Given the description of an element on the screen output the (x, y) to click on. 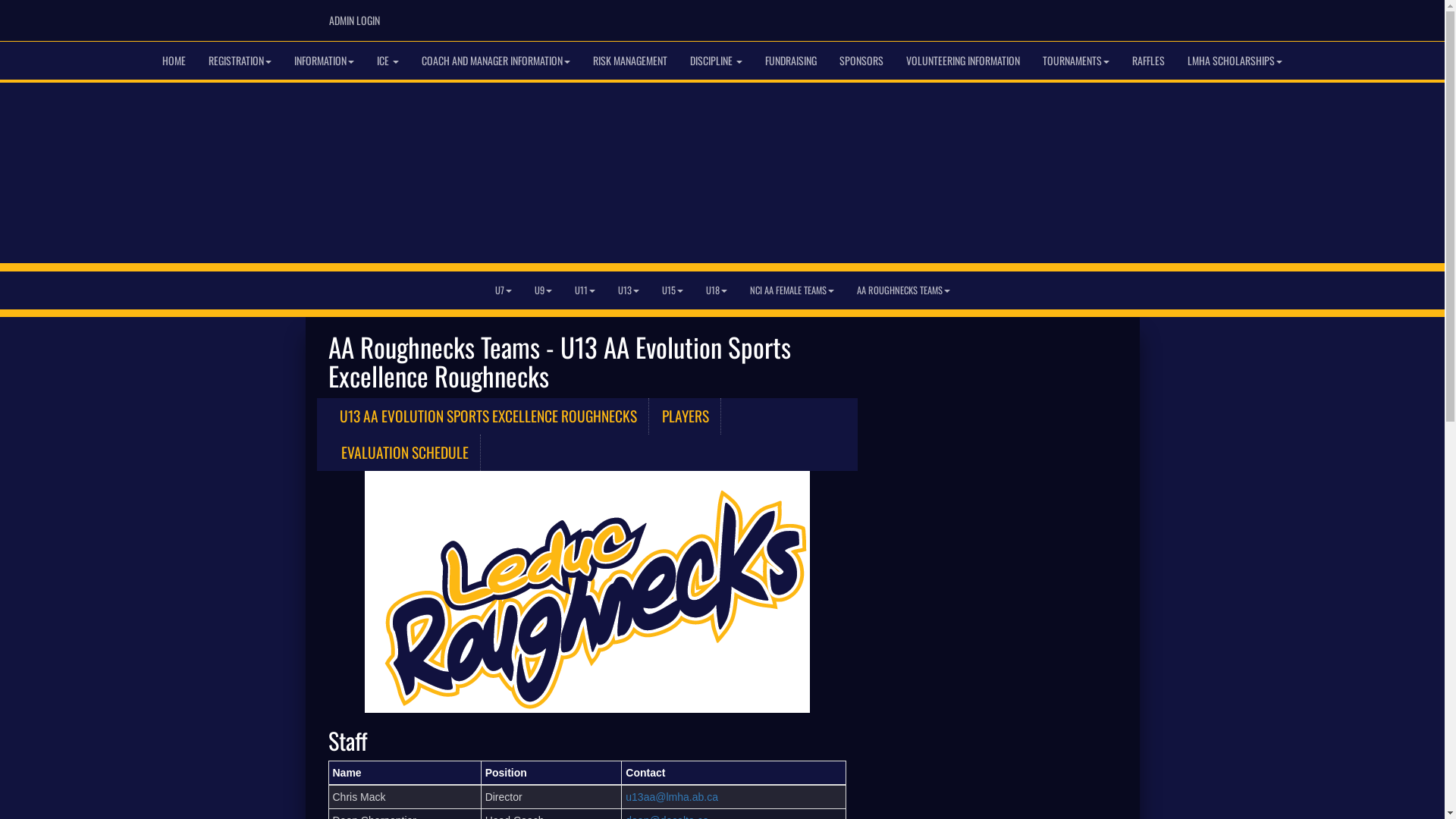
u13aa@lmha.ab.ca Element type: text (671, 796)
U11 Element type: text (583, 290)
Instagram Element type: text (1106, 15)
RISK MANAGEMENT Element type: text (629, 60)
VOLUNTEERING INFORMATION Element type: text (962, 60)
AA ROUGHNECKS TEAMS Element type: text (902, 290)
U7 Element type: text (503, 290)
Facebook Element type: text (1084, 15)
RAFFLES Element type: text (1148, 60)
U18 Element type: text (716, 290)
U13 AA EVOLUTION SPORTS EXCELLENCE ROUGHNECKS Element type: text (487, 416)
HOME Element type: text (173, 60)
U15 Element type: text (672, 290)
PLAYERS Element type: text (685, 416)
REGISTRATION Element type: text (239, 60)
COACH AND MANAGER INFORMATION Element type: text (495, 60)
EVALUATION SCHEDULE Element type: text (404, 452)
ICE Element type: text (387, 60)
U13 Element type: text (628, 290)
LMHA SCHOLARSHIPS Element type: text (1234, 60)
NCI AA FEMALE TEAMS Element type: text (791, 290)
U9 Element type: text (543, 290)
TOURNAMENTS Element type: text (1075, 60)
INFORMATION Element type: text (323, 60)
SPONSORS Element type: text (861, 60)
DISCIPLINE Element type: text (715, 60)
 ADMIN LOGIN
ADMIN LOGIN Element type: text (352, 20)
FUNDRAISING Element type: text (790, 60)
